Given the description of an element on the screen output the (x, y) to click on. 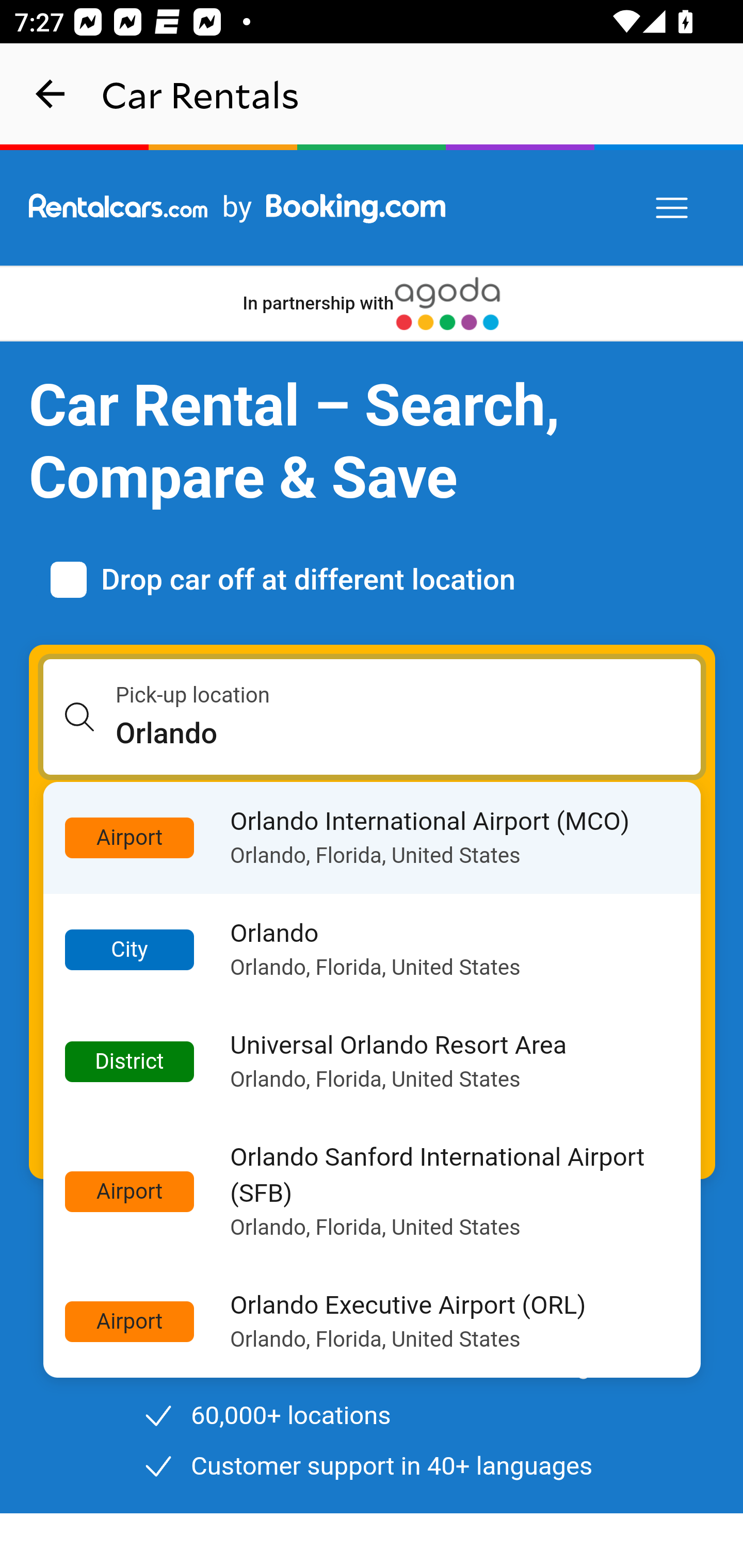
navigation_button (50, 93)
Menu (672, 208)
Pick-up location Orlando (372, 717)
Orlando (408, 733)
City Orlando Orlando, Florida, United States (372, 949)
